Given the description of an element on the screen output the (x, y) to click on. 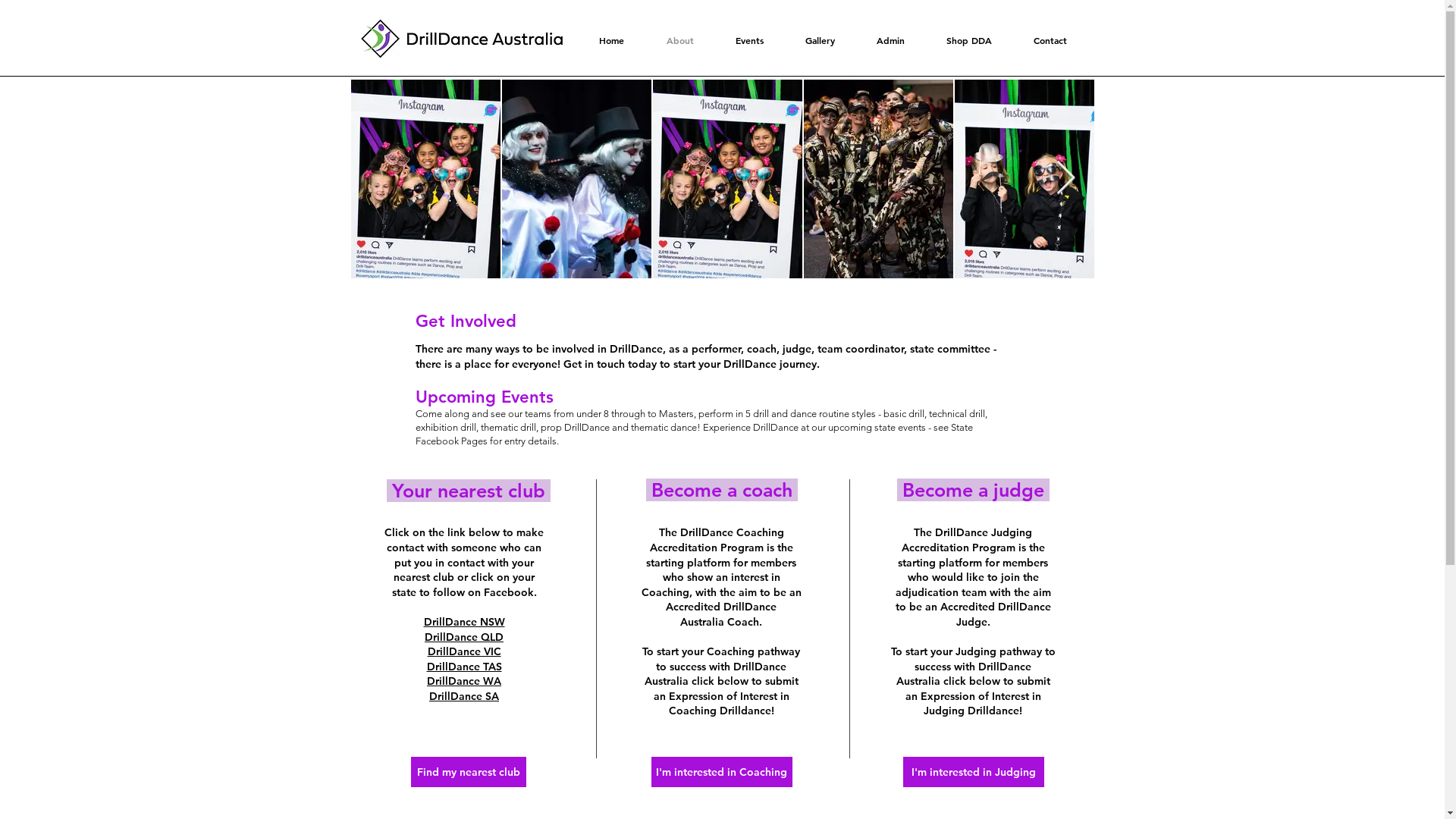
Shop DDA Element type: text (968, 40)
DrillDance NSW Element type: text (463, 621)
DrillDance WA Element type: text (463, 680)
I'm interested in Judging Element type: text (972, 771)
DrillDance QLD Element type: text (463, 636)
Gallery Element type: text (819, 40)
Contact Element type: text (1050, 40)
Find my nearest club Element type: text (468, 771)
Events Element type: text (748, 40)
Admin Element type: text (889, 40)
DrillDance VIC Element type: text (464, 651)
DrillDance SA Element type: text (463, 695)
I'm interested in Coaching Element type: text (720, 771)
DrillDance TAS Element type: text (463, 666)
About Element type: text (680, 40)
Home Element type: text (610, 40)
